Given the description of an element on the screen output the (x, y) to click on. 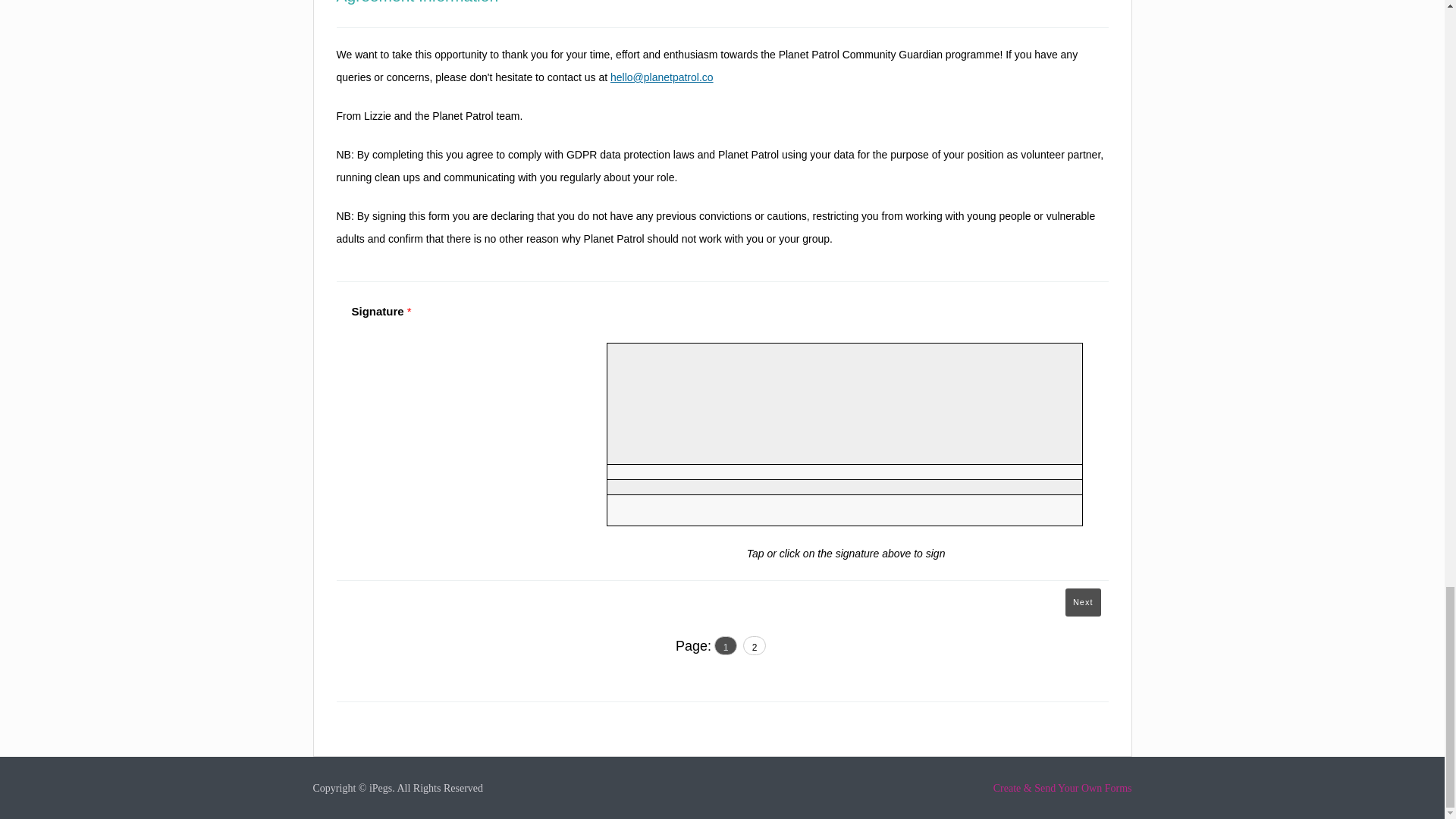
1 (725, 644)
Next (1082, 602)
2 (753, 644)
